Given the description of an element on the screen output the (x, y) to click on. 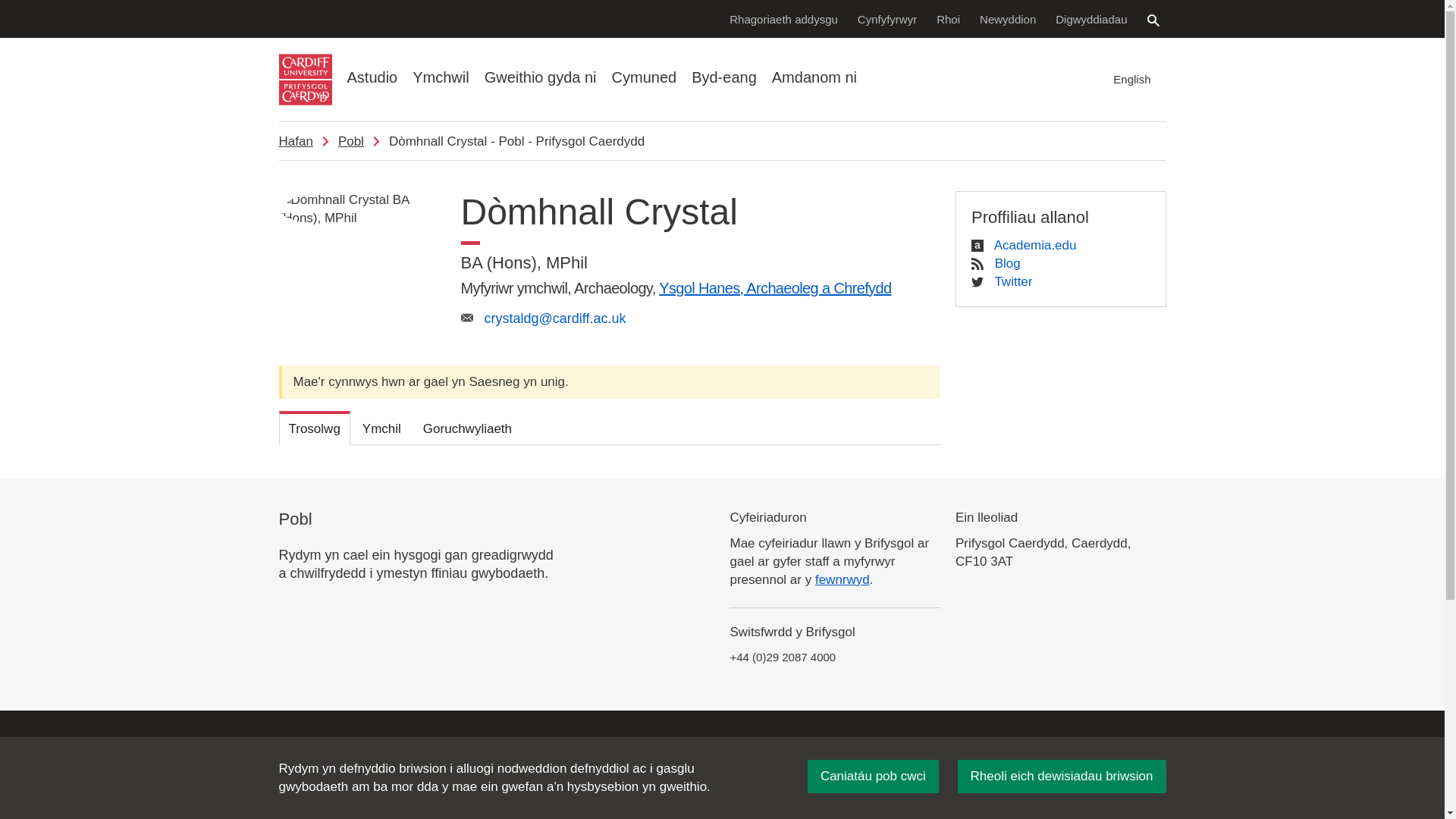
instagram (1113, 767)
Rheoli eich dewisiadau briwsion (1062, 776)
twitter no background icon (977, 282)
Cynfyfyrwyr (887, 19)
Youtube (1153, 767)
twitter no background icon (1074, 767)
Rhoi (948, 19)
Cardiff University logo (305, 79)
academia-edu (977, 245)
Search (1152, 20)
